Given the description of an element on the screen output the (x, y) to click on. 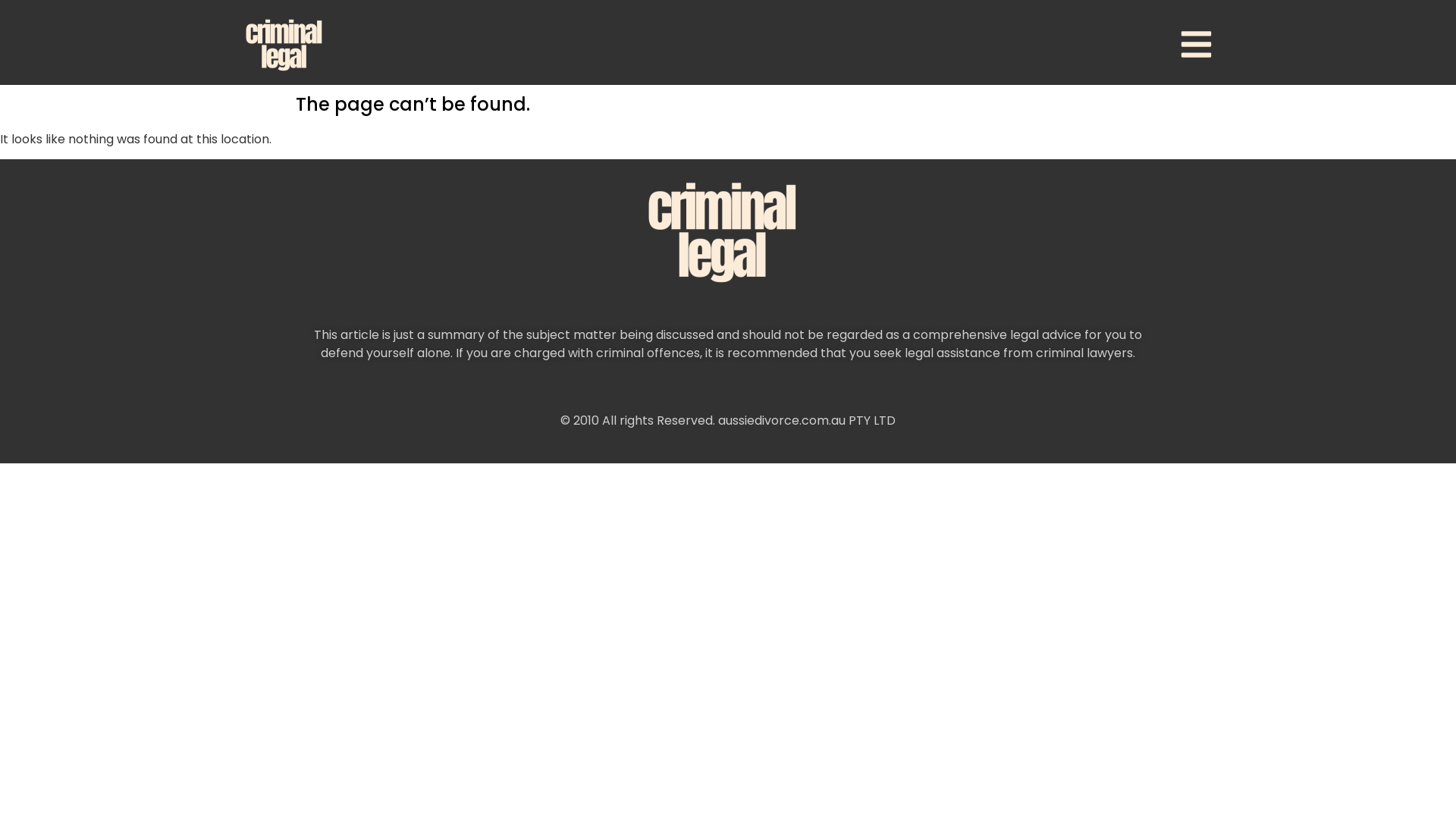
criminallegal cre Element type: hover (286, 44)
criminallegal cre Element type: hover (727, 231)
